Given the description of an element on the screen output the (x, y) to click on. 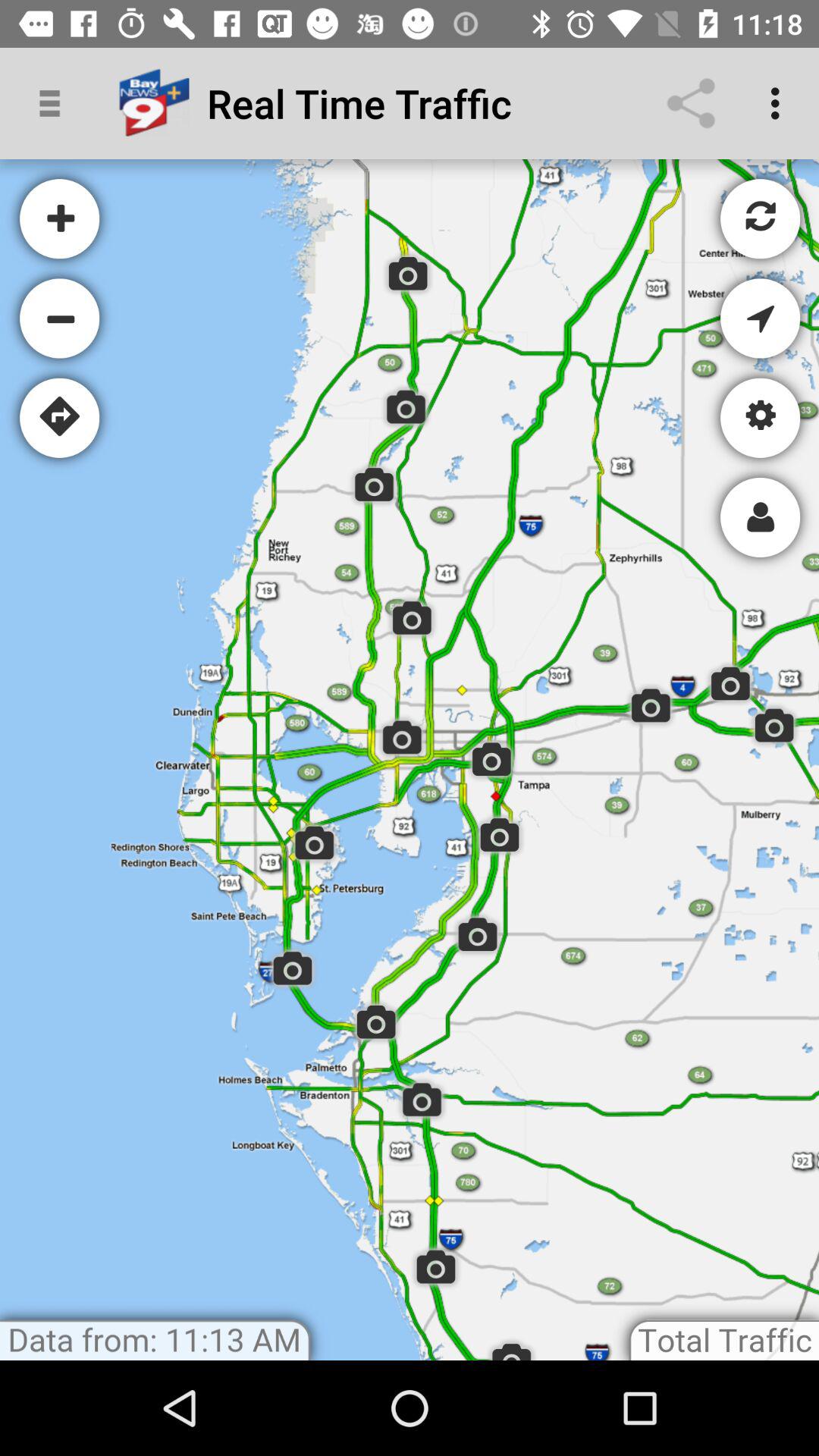
map (409, 759)
